Given the description of an element on the screen output the (x, y) to click on. 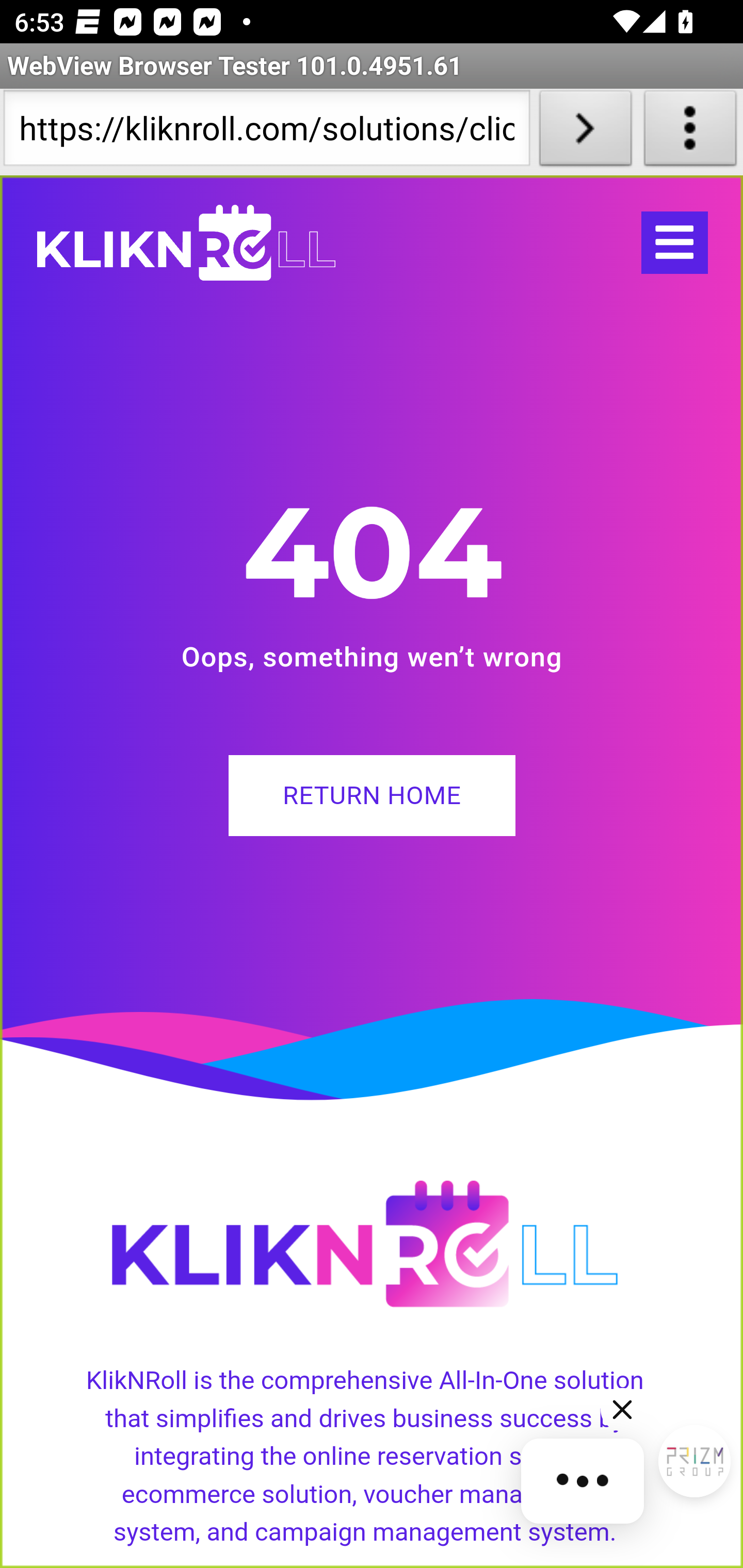
Load URL (585, 132)
About WebView (690, 132)
kliknroll (185, 242)
 (673, 242)
RETURN HOME (371, 794)
Open LiveChat chat widget (694, 1462)
